Given the description of an element on the screen output the (x, y) to click on. 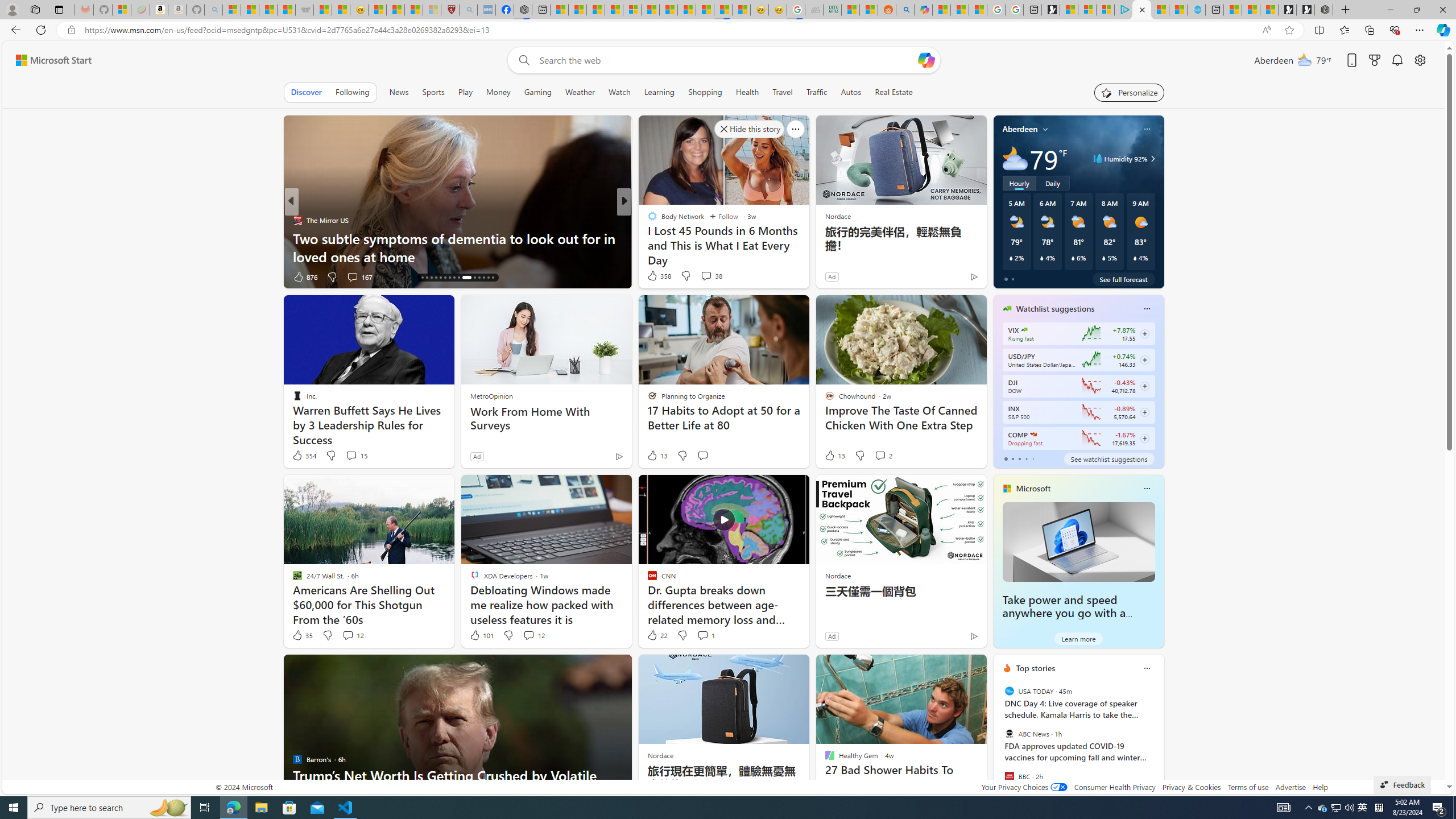
Class: weather-current-precipitation-glyph (1134, 257)
Learning (659, 92)
Humidity 92% (1150, 158)
AutomationID: tab-26 (472, 277)
Microsoft (1033, 488)
Mostly cloudy (1014, 158)
Autos (850, 92)
14 Common Myths Debunked By Scientific Facts (686, 9)
View comments 1 Comment (705, 634)
AutomationID: tab-21 (444, 277)
AutomationID: tab-24 (458, 277)
